Given the description of an element on the screen output the (x, y) to click on. 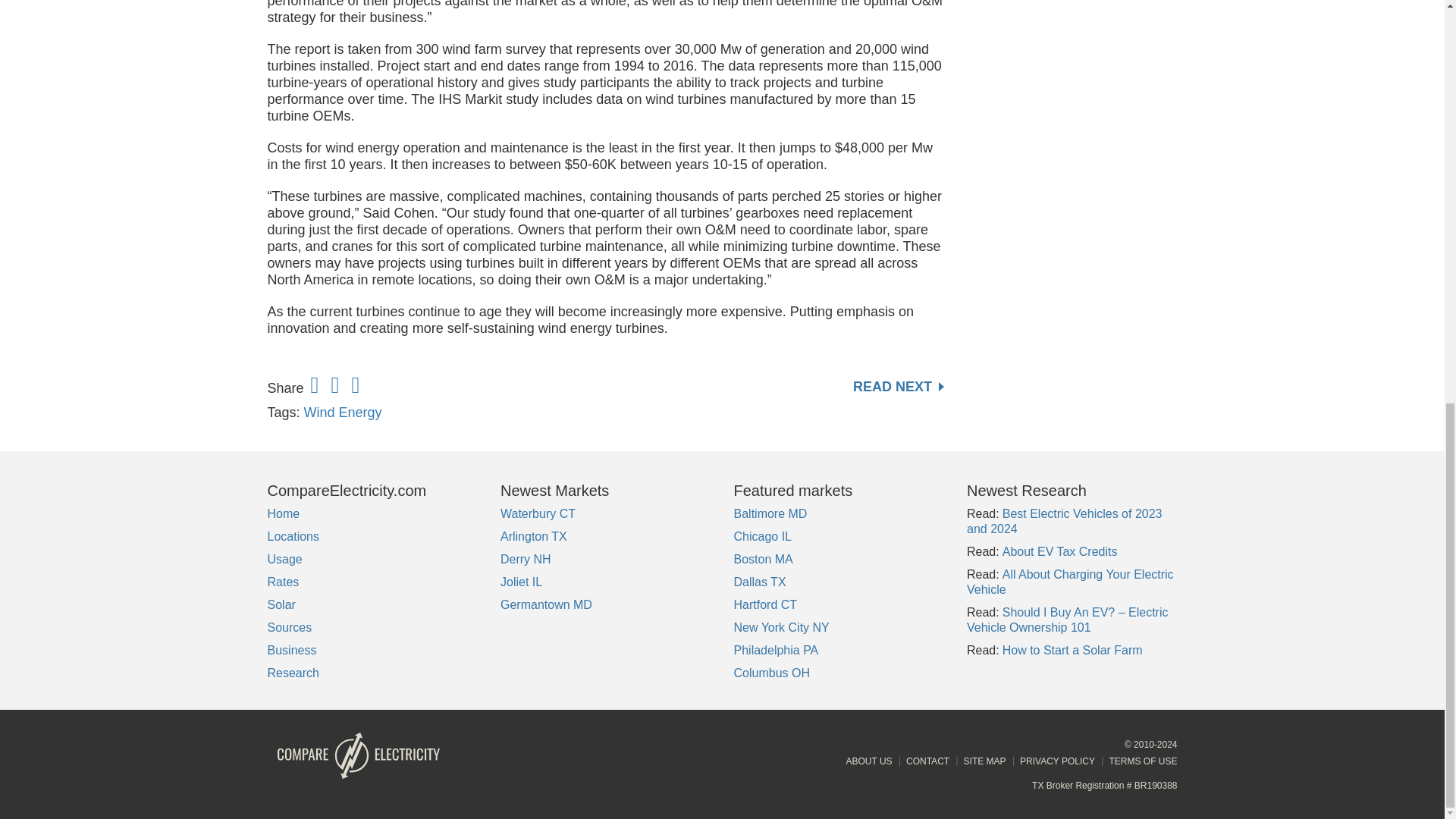
CompareElectricity.com (371, 490)
READ NEXT (898, 386)
Wind Energy (342, 412)
